Given the description of an element on the screen output the (x, y) to click on. 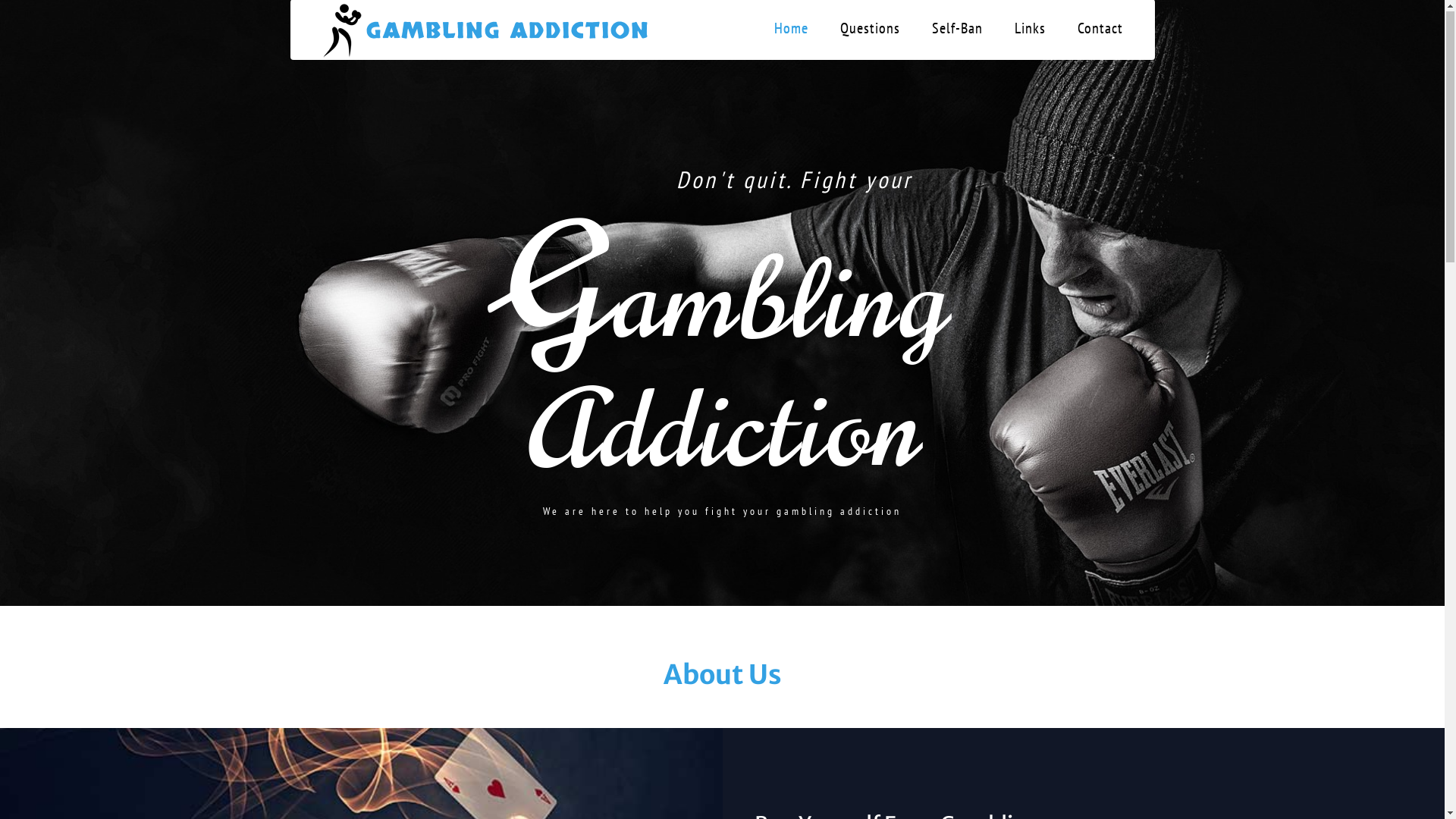
Links Element type: text (1029, 28)
Self-Ban Element type: text (956, 28)
Home Element type: text (790, 28)
GAMBLING ADDICTION Element type: text (480, 30)
Contact Element type: text (1099, 28)
Questions Element type: text (870, 28)
